Given the description of an element on the screen output the (x, y) to click on. 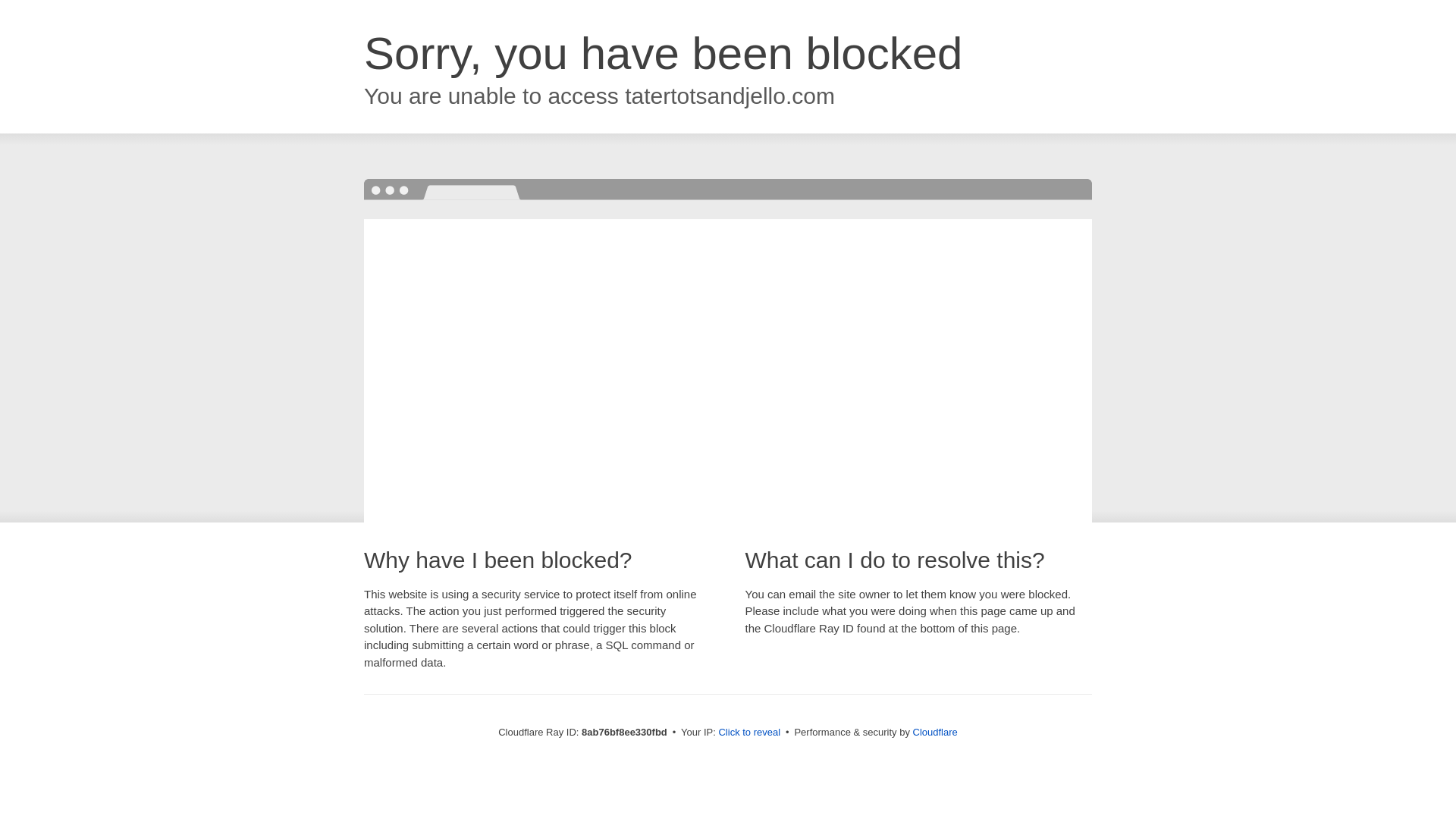
Click to reveal (748, 732)
Cloudflare (935, 731)
